Given the description of an element on the screen output the (x, y) to click on. 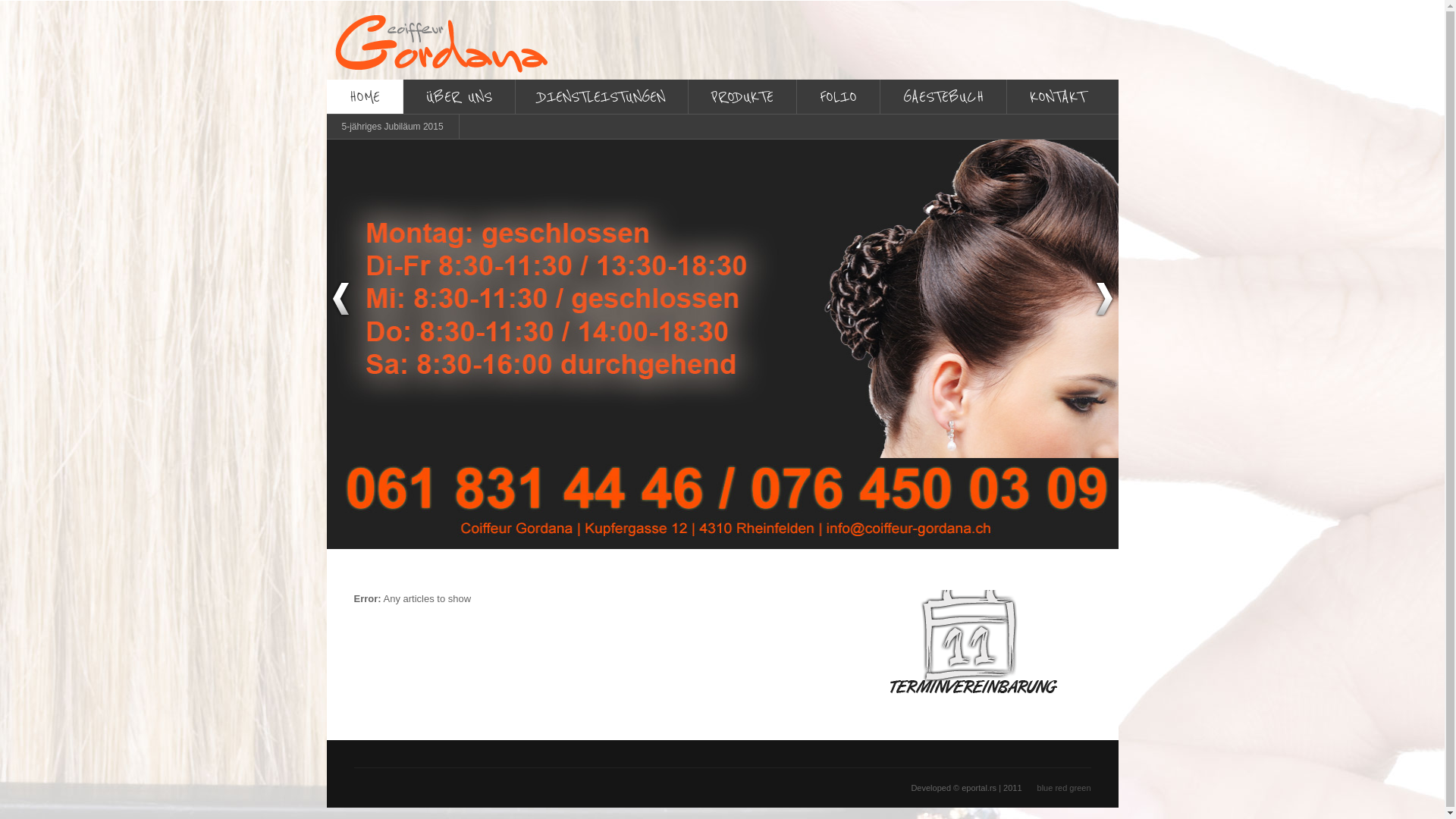
KONTAKT Element type: text (1057, 96)
GAESTEBUCH Element type: text (942, 96)
HOME Element type: text (363, 96)
PRODUKTE Element type: text (742, 96)
red Element type: text (1060, 787)
green Element type: text (1079, 787)
FOLIO Element type: text (837, 96)
Coiffeur Gordana Element type: text (439, 39)
blue Element type: text (1045, 787)
DIENSTLEISTUNGEN Element type: text (601, 96)
